Given the description of an element on the screen output the (x, y) to click on. 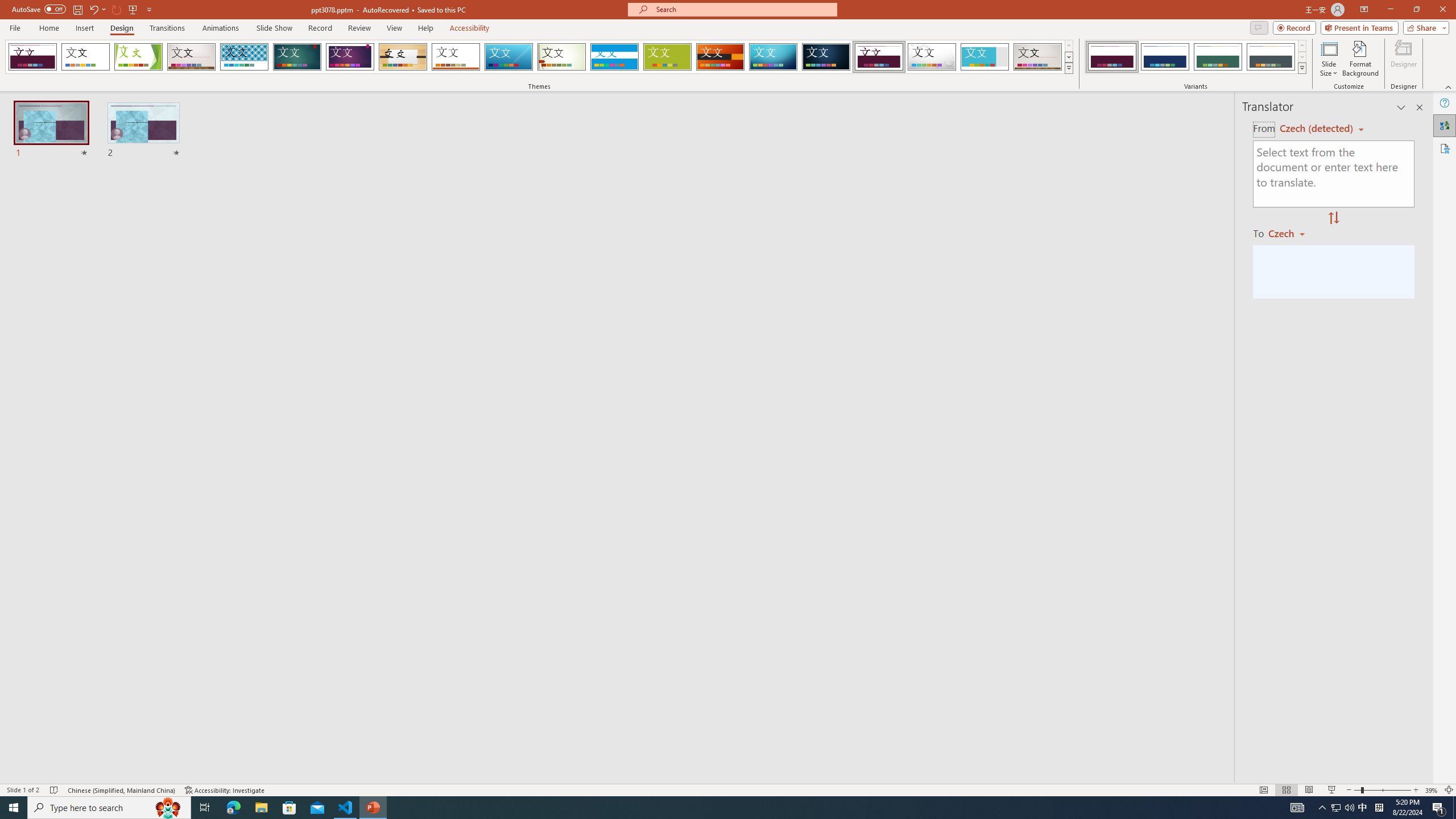
Office Theme (85, 56)
AutomationID: ThemeVariantsGallery (1195, 56)
Basis (667, 56)
Frame (984, 56)
Slice (508, 56)
AutomationID: SlideThemesGallery (539, 56)
